Given the description of an element on the screen output the (x, y) to click on. 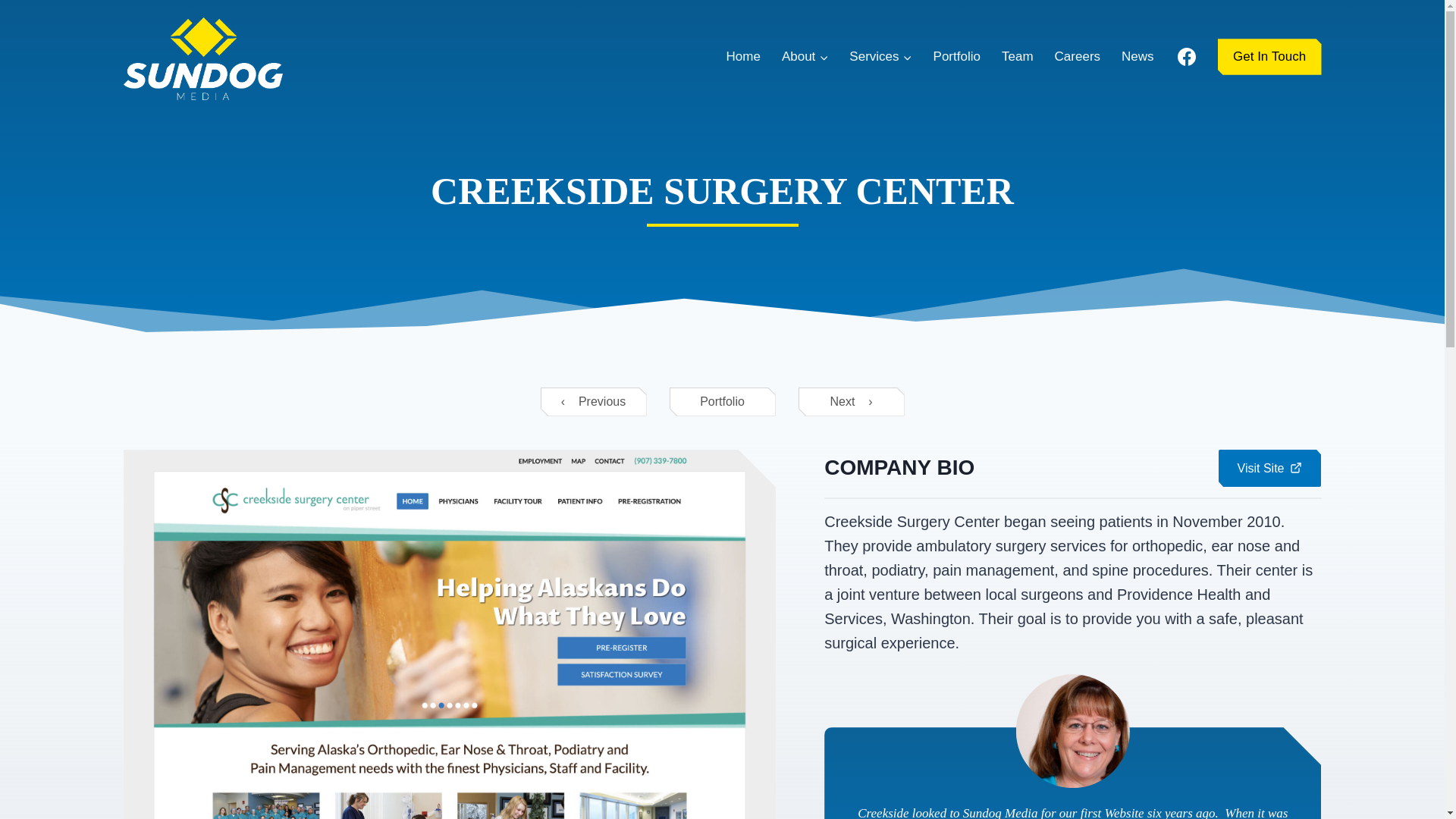
About (804, 56)
Get In Touch (1269, 56)
Team (1017, 56)
Careers (1077, 56)
Home (742, 56)
News (1137, 56)
Portfolio (721, 401)
Services (879, 56)
Portfolio (957, 56)
Visit Site (1270, 468)
